Given the description of an element on the screen output the (x, y) to click on. 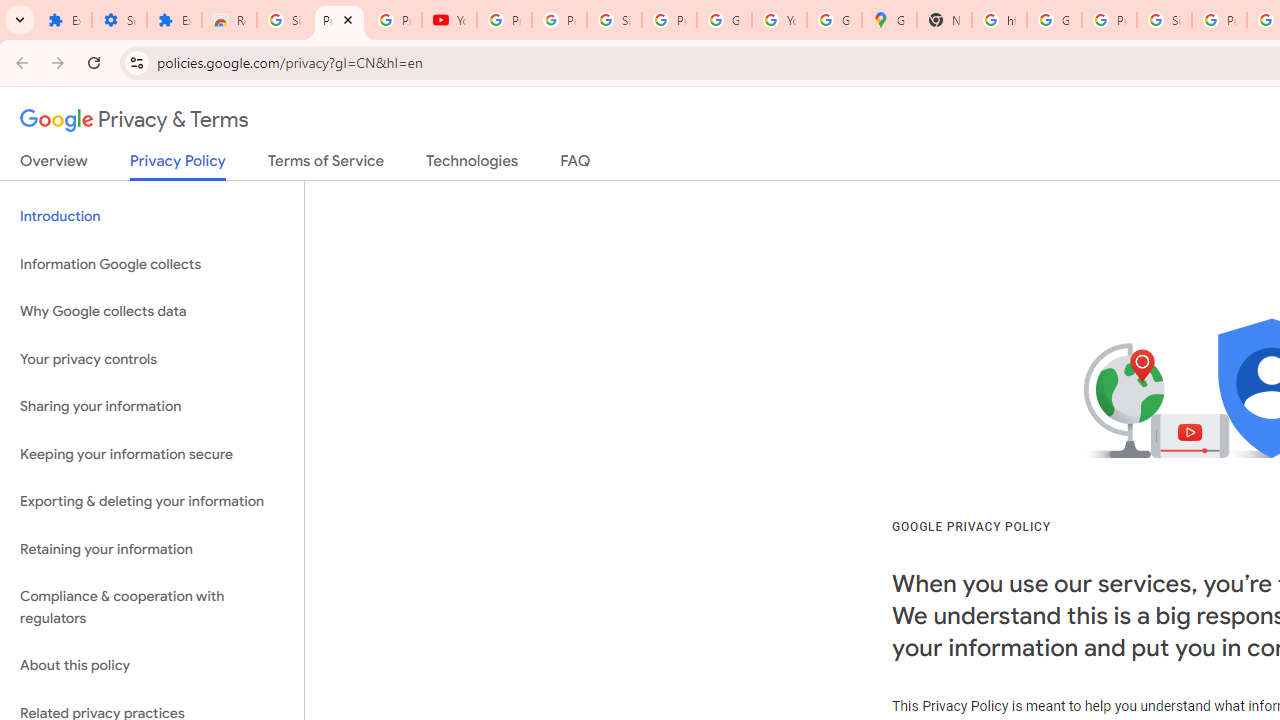
Compliance & cooperation with regulators (152, 607)
Retaining your information (152, 548)
Google Account (724, 20)
Sharing your information (152, 407)
Exporting & deleting your information (152, 502)
https://scholar.google.com/ (998, 20)
Settings (119, 20)
Extensions (64, 20)
Google Maps (888, 20)
